Given the description of an element on the screen output the (x, y) to click on. 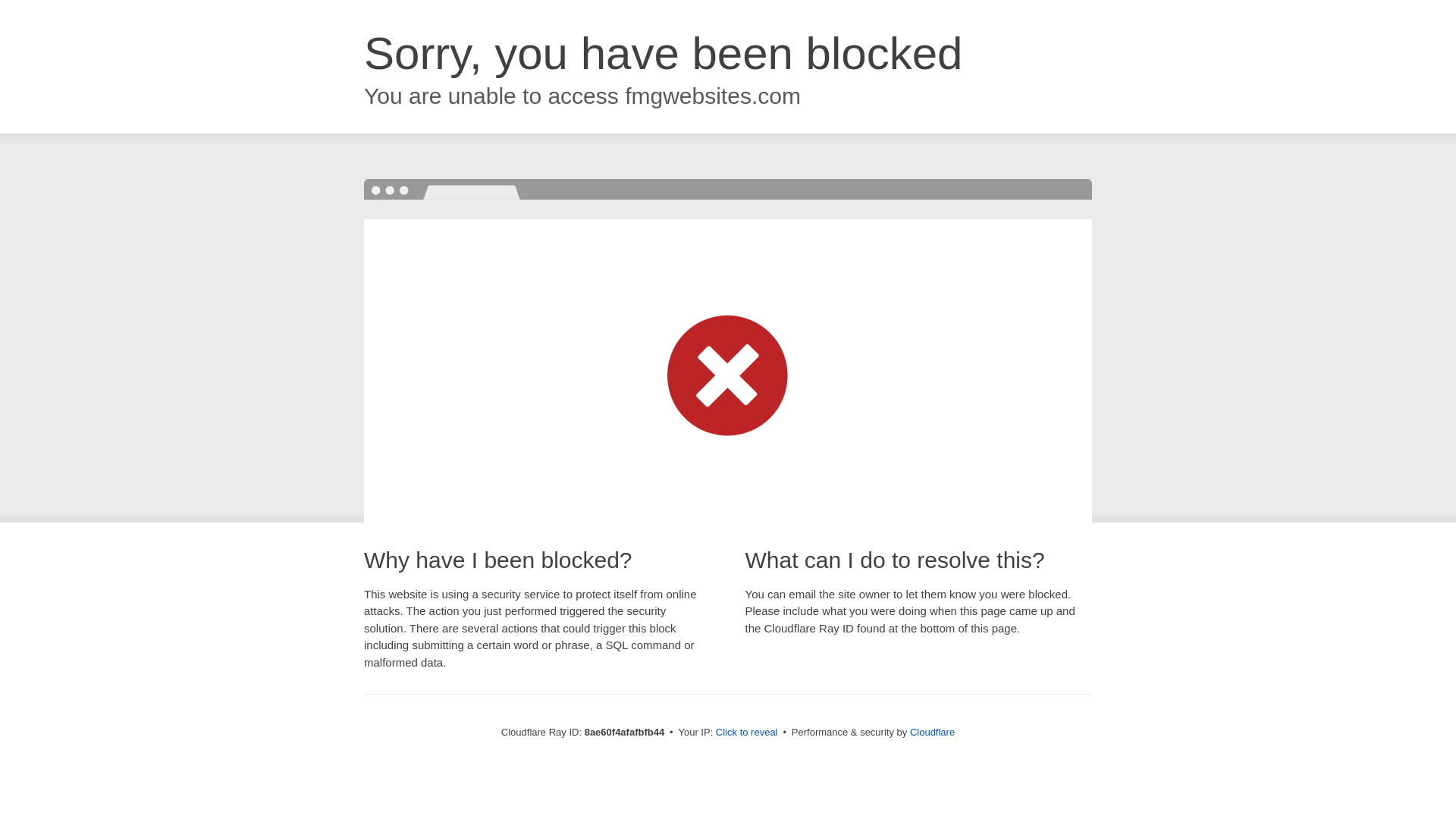
Cloudflare (932, 731)
Click to reveal (746, 732)
